Given the description of an element on the screen output the (x, y) to click on. 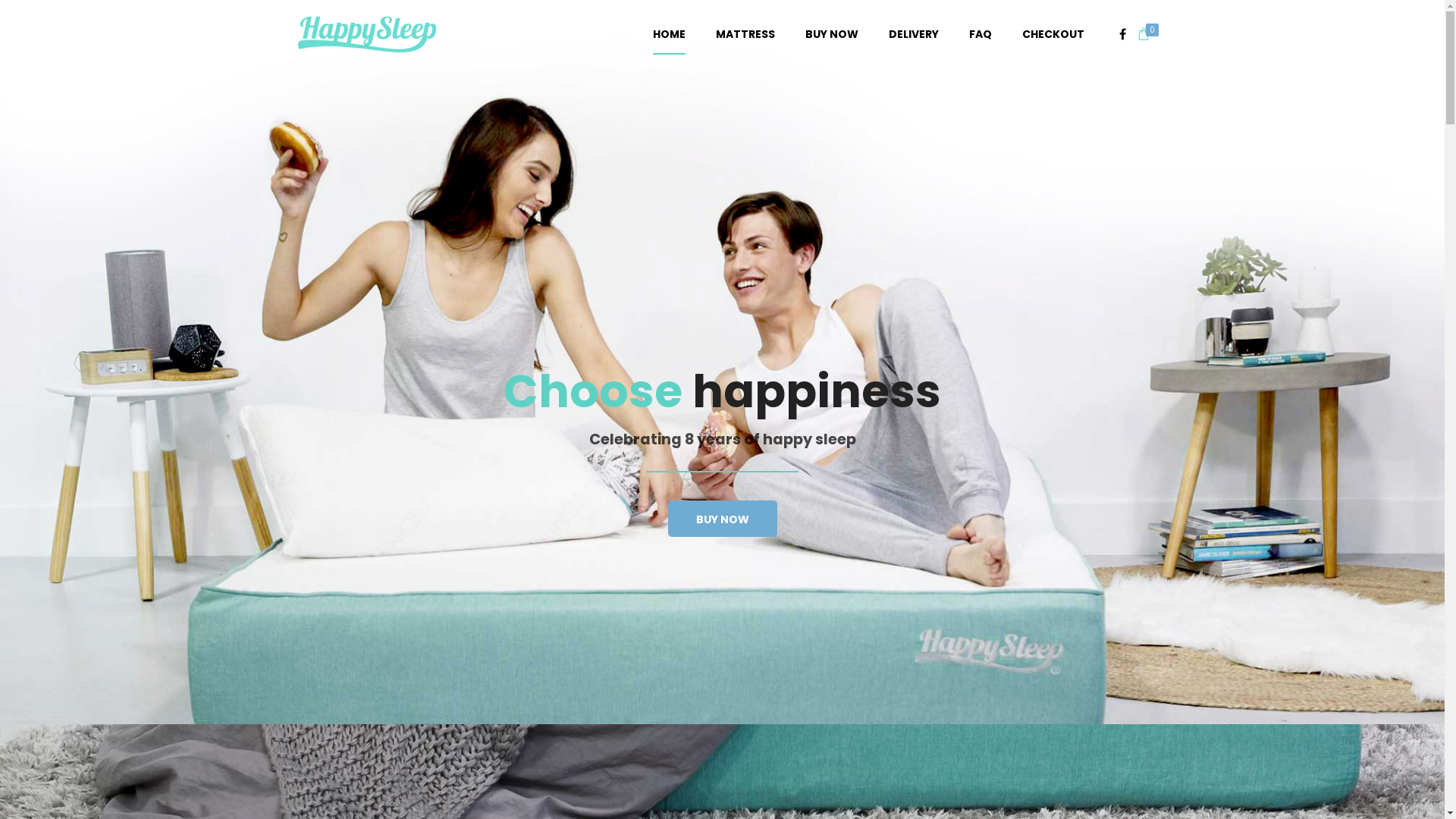
DELIVERY Element type: text (913, 34)
CHECKOUT Element type: text (1053, 34)
FAQ Element type: text (980, 34)
MATTRESS Element type: text (745, 34)
BUY NOW Element type: text (721, 518)
HOME Element type: text (668, 34)
BUY NOW Element type: text (831, 34)
